Given the description of an element on the screen output the (x, y) to click on. 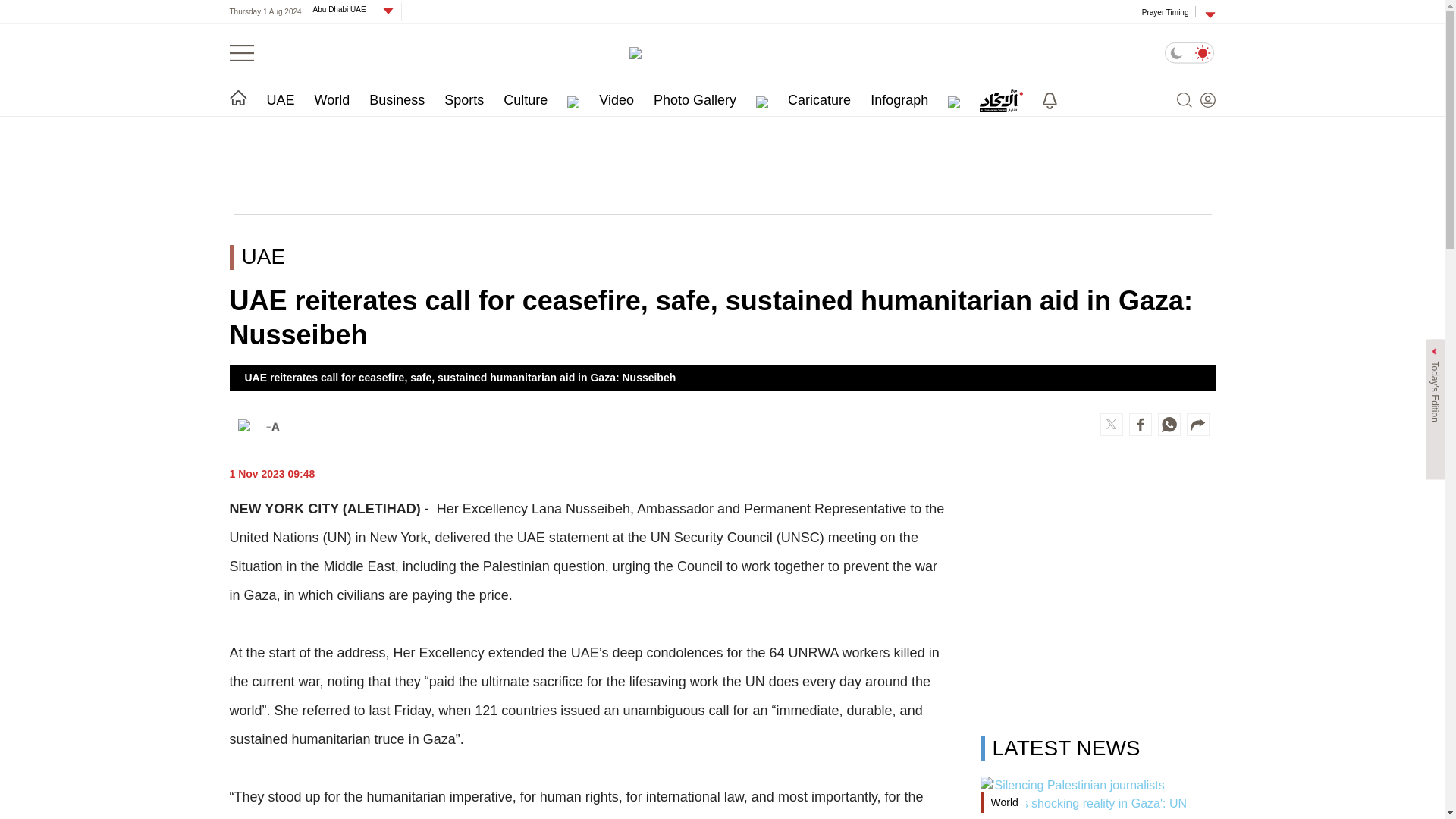
Sports (463, 100)
Infograph (899, 100)
Business (397, 100)
Aletihad Newspaper (721, 52)
Culture (525, 100)
Caricature (818, 100)
UAE (280, 100)
Abu Dhabi UAE (344, 8)
Video (615, 100)
Photo Gallery (694, 100)
Prayer Timing (1165, 11)
World (332, 100)
